Given the description of an element on the screen output the (x, y) to click on. 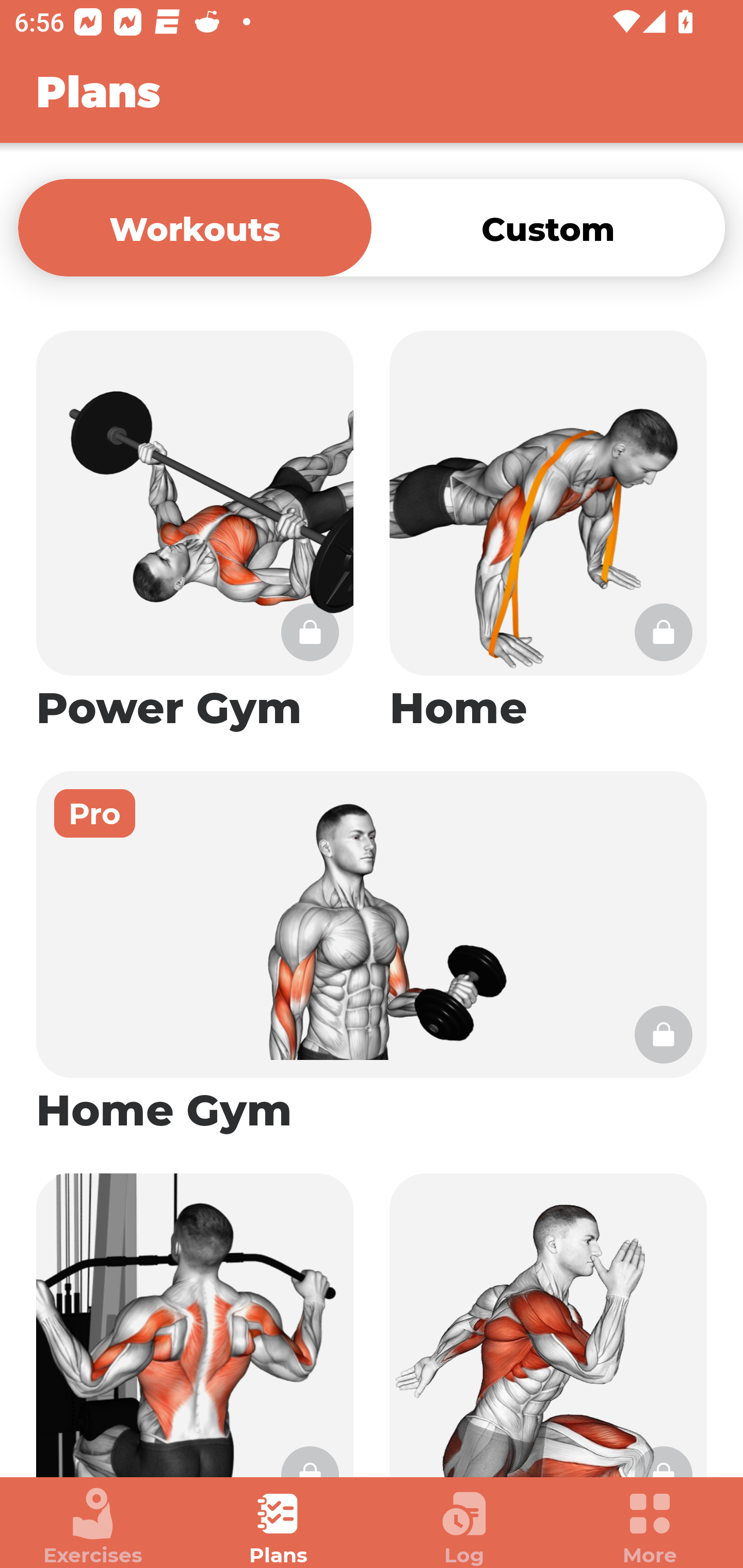
Workouts (194, 226)
Custom (548, 226)
Power Gym (194, 532)
Home (548, 532)
Pro Home Gym (371, 953)
Exercises (92, 1527)
Plans (278, 1527)
Log (464, 1527)
More (650, 1527)
